Given the description of an element on the screen output the (x, y) to click on. 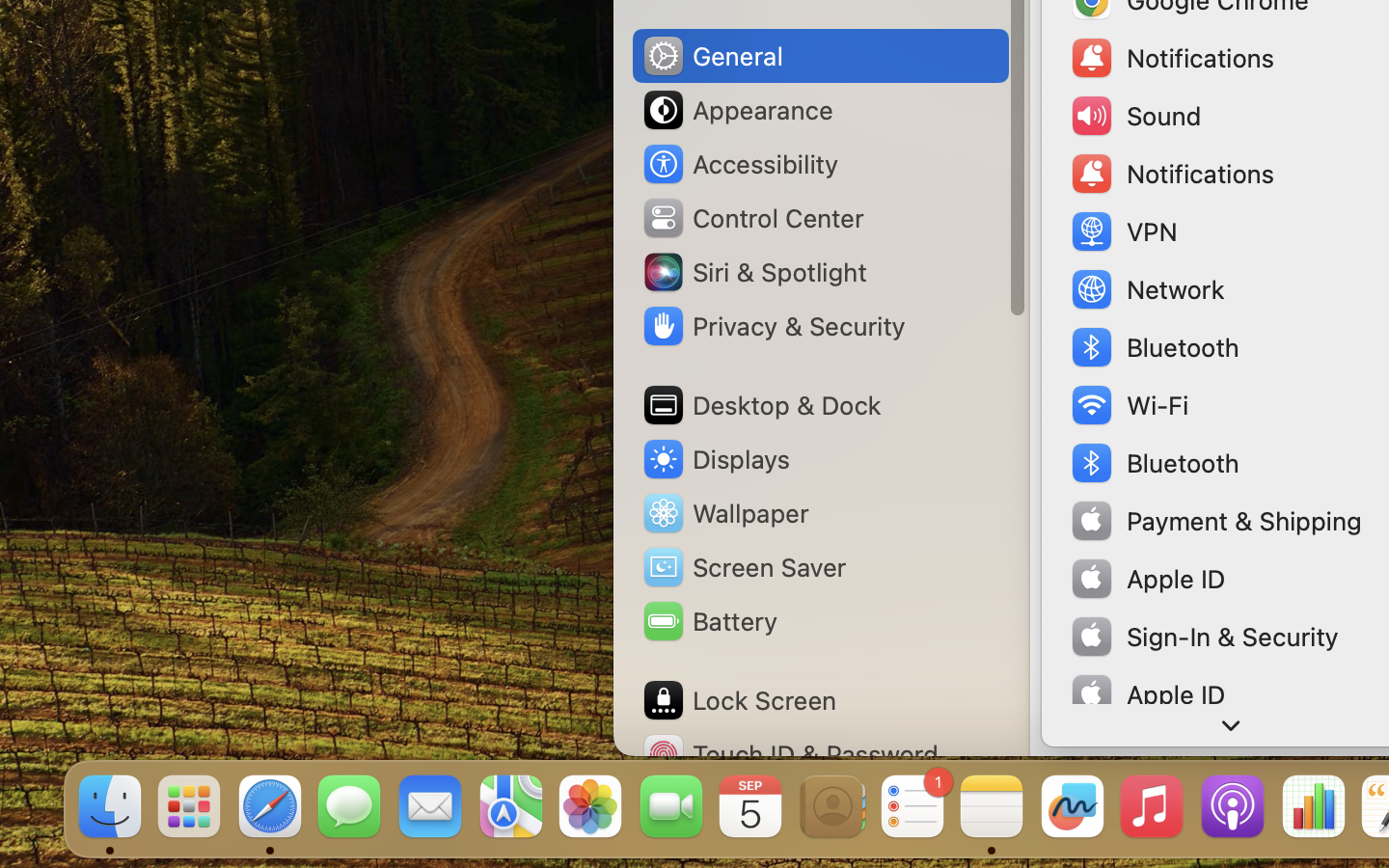
Touch ID & Password Element type: AXStaticText (789, 754)
Siri & Spotlight Element type: AXStaticText (753, 271)
Control Center Element type: AXStaticText (752, 217)
